Given the description of an element on the screen output the (x, y) to click on. 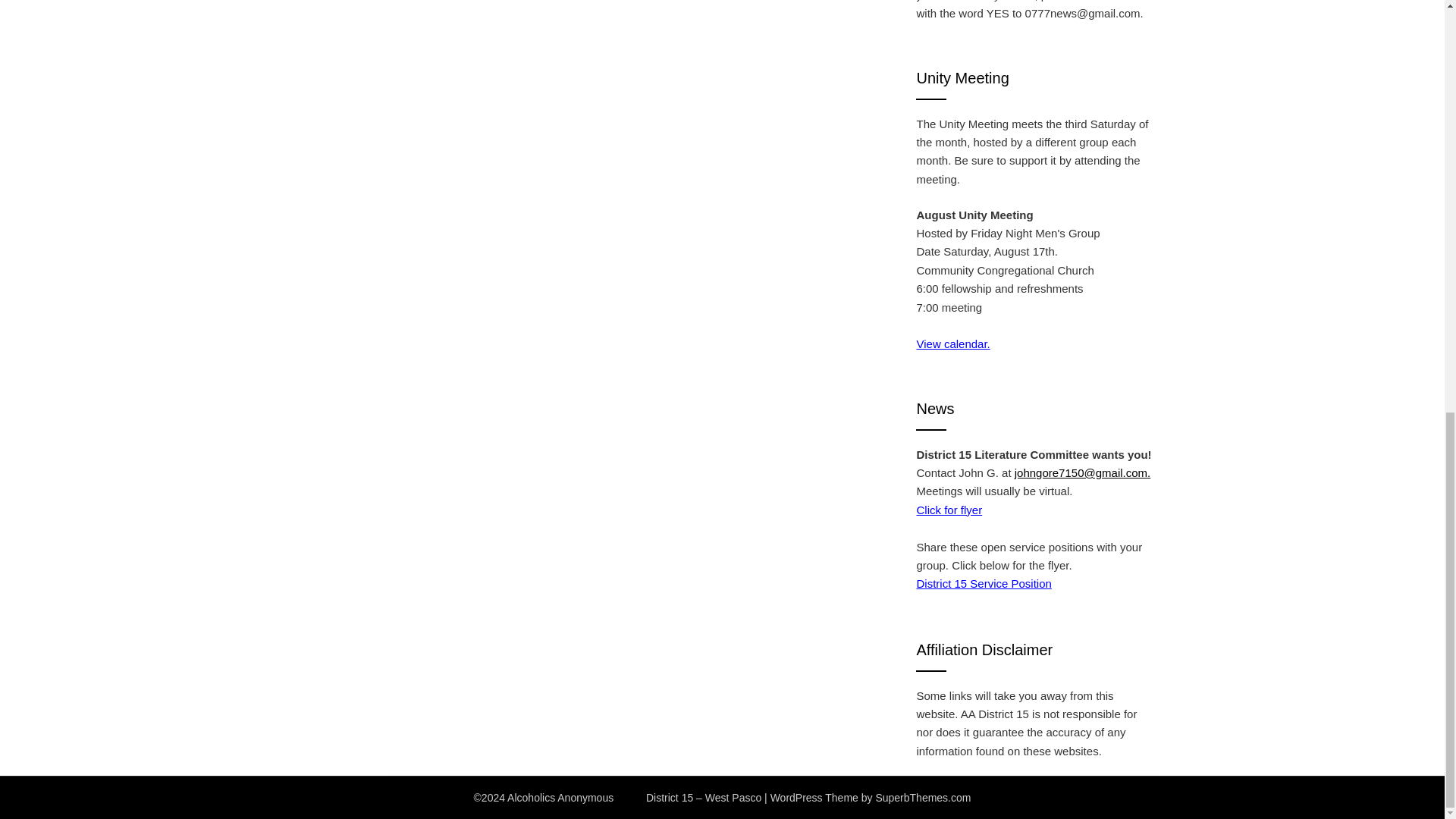
Click for flyer (948, 509)
View calendar. (952, 343)
SuperbThemes.com (923, 797)
District 15 Service Position (983, 583)
